Given the description of an element on the screen output the (x, y) to click on. 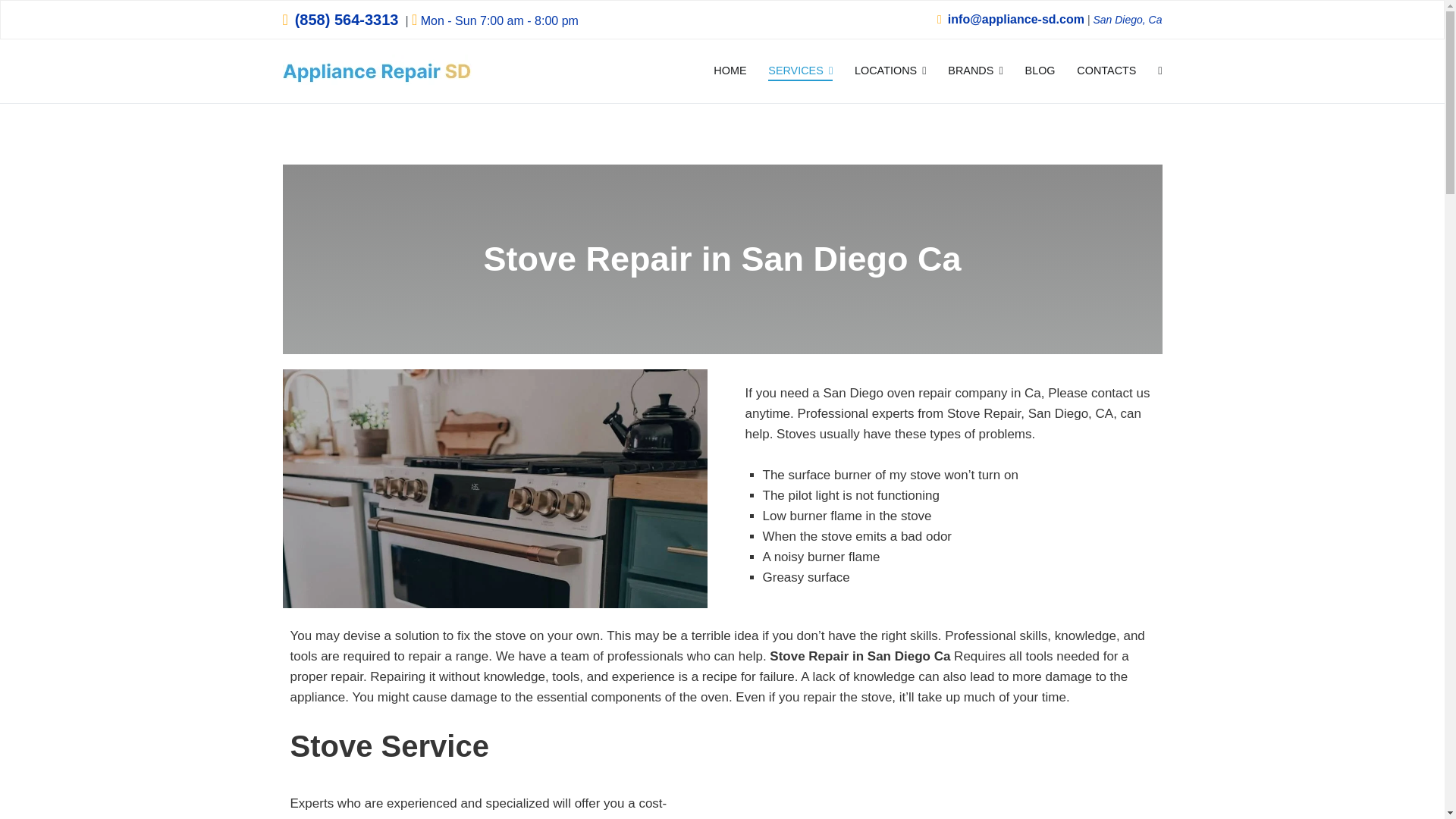
San Diego, Ca (1127, 19)
LOCATIONS (890, 71)
SERVICES (800, 71)
HOME (729, 71)
Appliance Repair SD (553, 81)
